Given the description of an element on the screen output the (x, y) to click on. 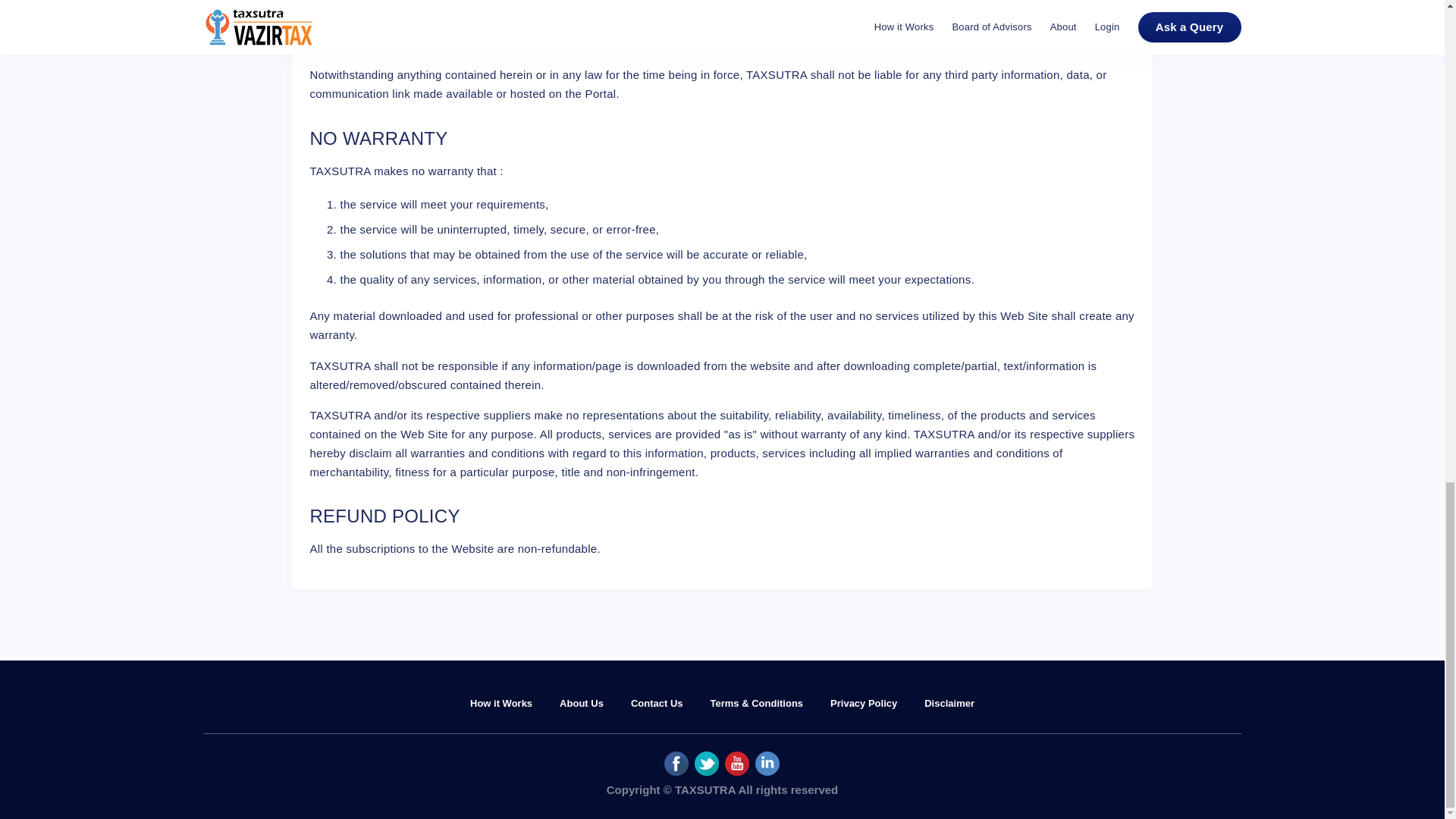
How it Works (501, 703)
Privacy Policy (862, 703)
Disclaimer (949, 703)
Contact Us (656, 703)
About Us (581, 703)
